Given the description of an element on the screen output the (x, y) to click on. 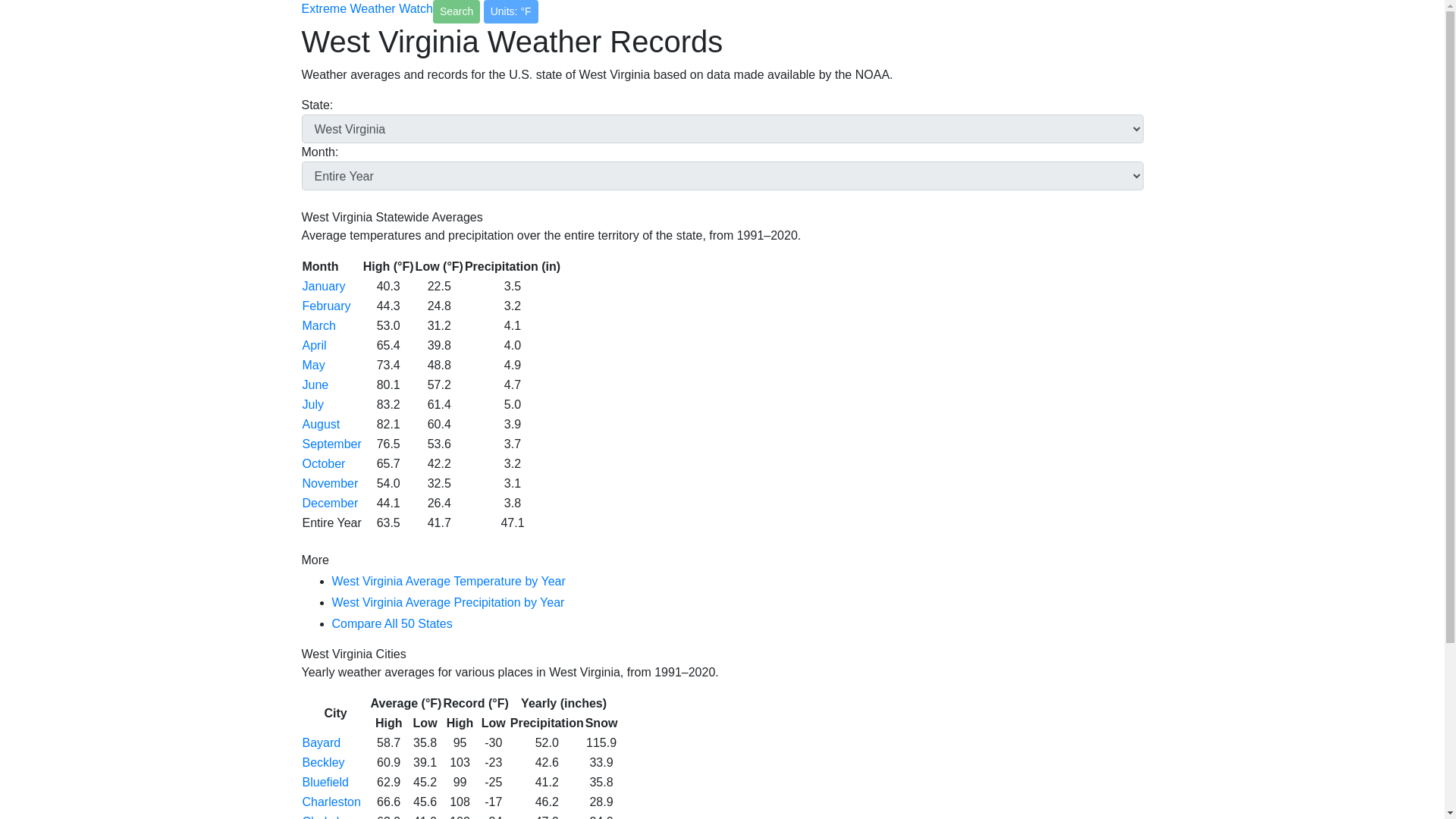
Clarksburg (330, 816)
West Virginia Average Temperature by Year (448, 581)
Bayard (320, 742)
September (331, 443)
October (323, 463)
Charleston (330, 801)
November (329, 482)
Search (456, 11)
May (312, 364)
July (312, 404)
March (317, 325)
West Virginia Average Precipitation by Year (447, 602)
August (320, 423)
December (329, 502)
January (323, 286)
